Given the description of an element on the screen output the (x, y) to click on. 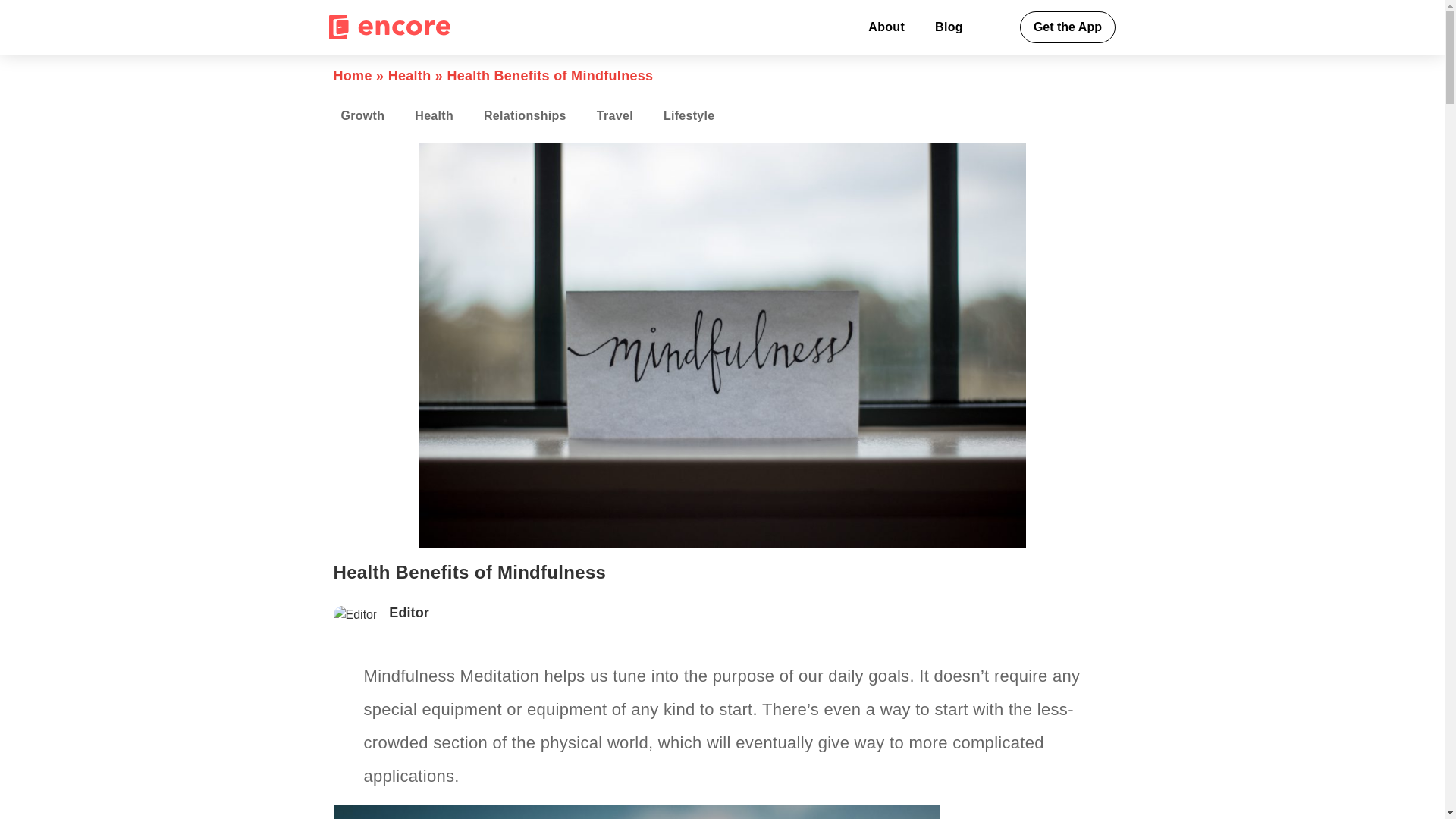
Relationships (524, 116)
Home (352, 75)
Lifestyle (688, 116)
Health (409, 75)
Blog (949, 27)
Travel (613, 116)
Growth (363, 116)
Get the App (1068, 27)
About (886, 27)
Health (433, 116)
